Given the description of an element on the screen output the (x, y) to click on. 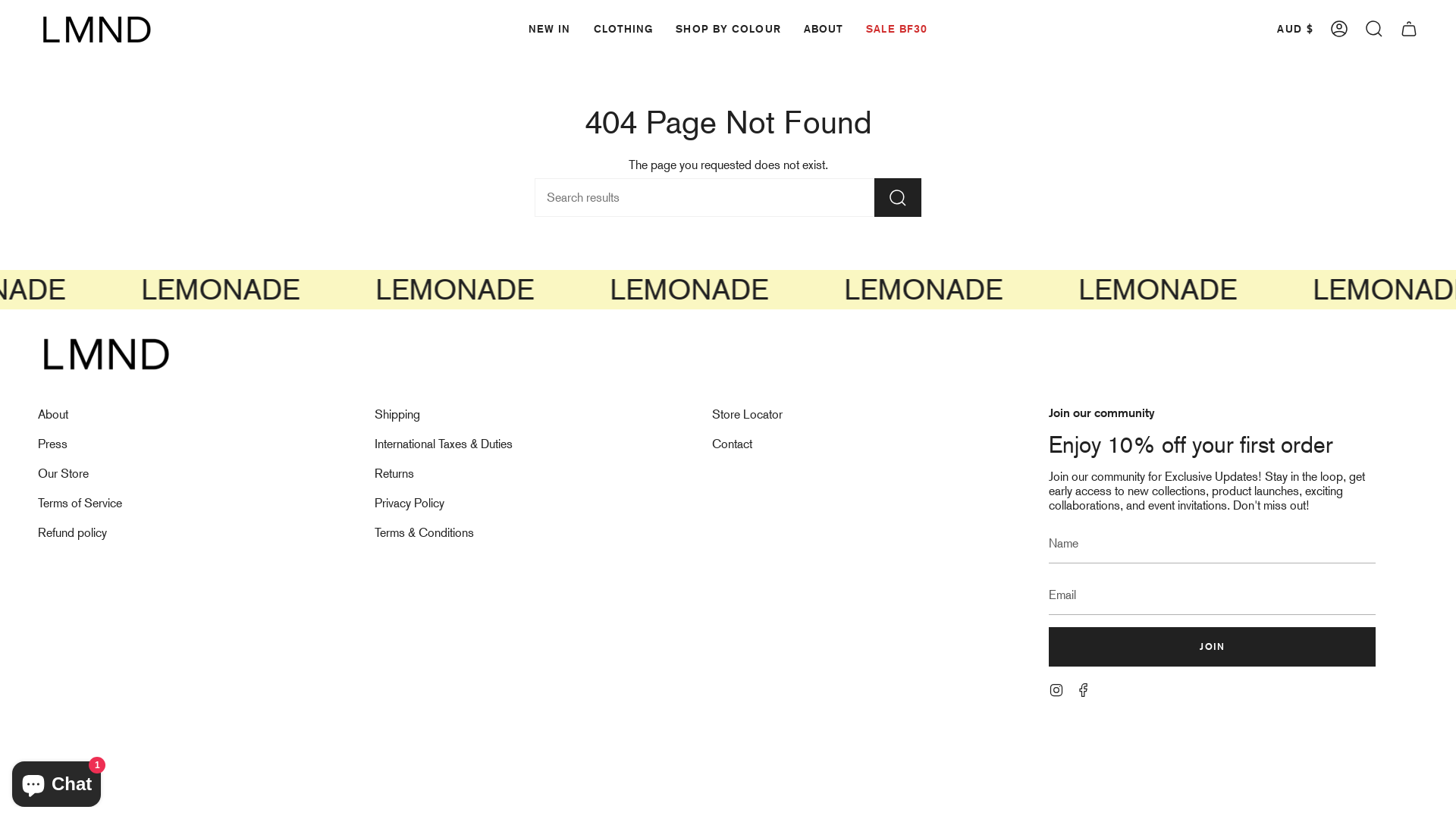
Our Store Element type: text (62, 473)
Contact Element type: text (732, 443)
About Element type: text (52, 414)
Returns Element type: text (394, 473)
Instagram Element type: text (1055, 688)
Terms & Conditions Element type: text (423, 532)
Facebook Element type: text (1083, 688)
International Taxes & Duties Element type: text (443, 443)
CLOTHING Element type: text (623, 29)
Shopify online store chat Element type: hover (56, 780)
JOIN Element type: text (1211, 646)
Shipping Element type: text (397, 414)
Store Locator Element type: text (747, 414)
Press Element type: text (52, 443)
AUD $ Element type: text (1294, 29)
ACCOUNT Element type: text (1338, 29)
Privacy Policy Element type: text (409, 502)
Terms of Service Element type: text (79, 502)
CART Element type: text (1408, 29)
NEW IN Element type: text (549, 29)
Refund policy Element type: text (71, 532)
SHOP BY COLOUR Element type: text (727, 29)
ABOUT Element type: text (823, 29)
SALE BF30 Element type: text (896, 29)
